Given the description of an element on the screen output the (x, y) to click on. 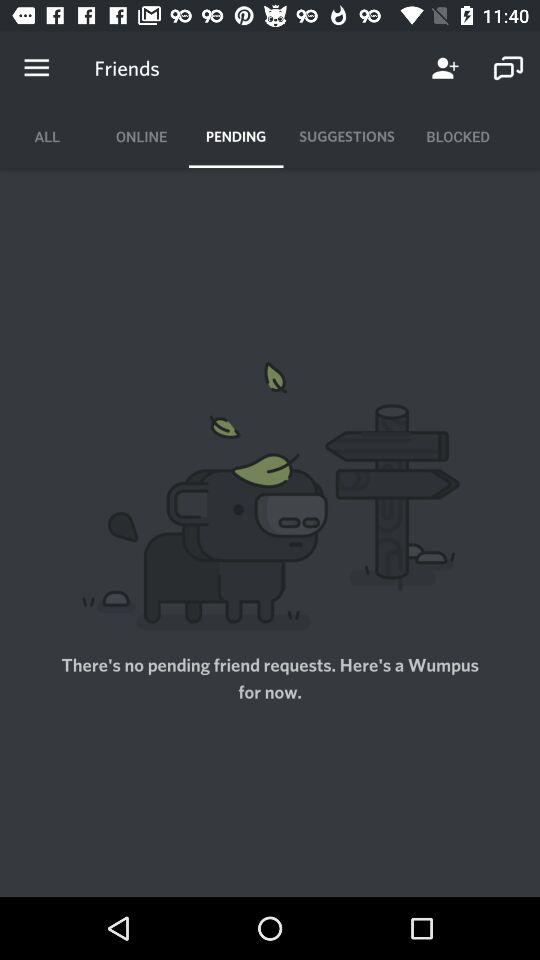
choose the icon next to the friends item (444, 67)
